Given the description of an element on the screen output the (x, y) to click on. 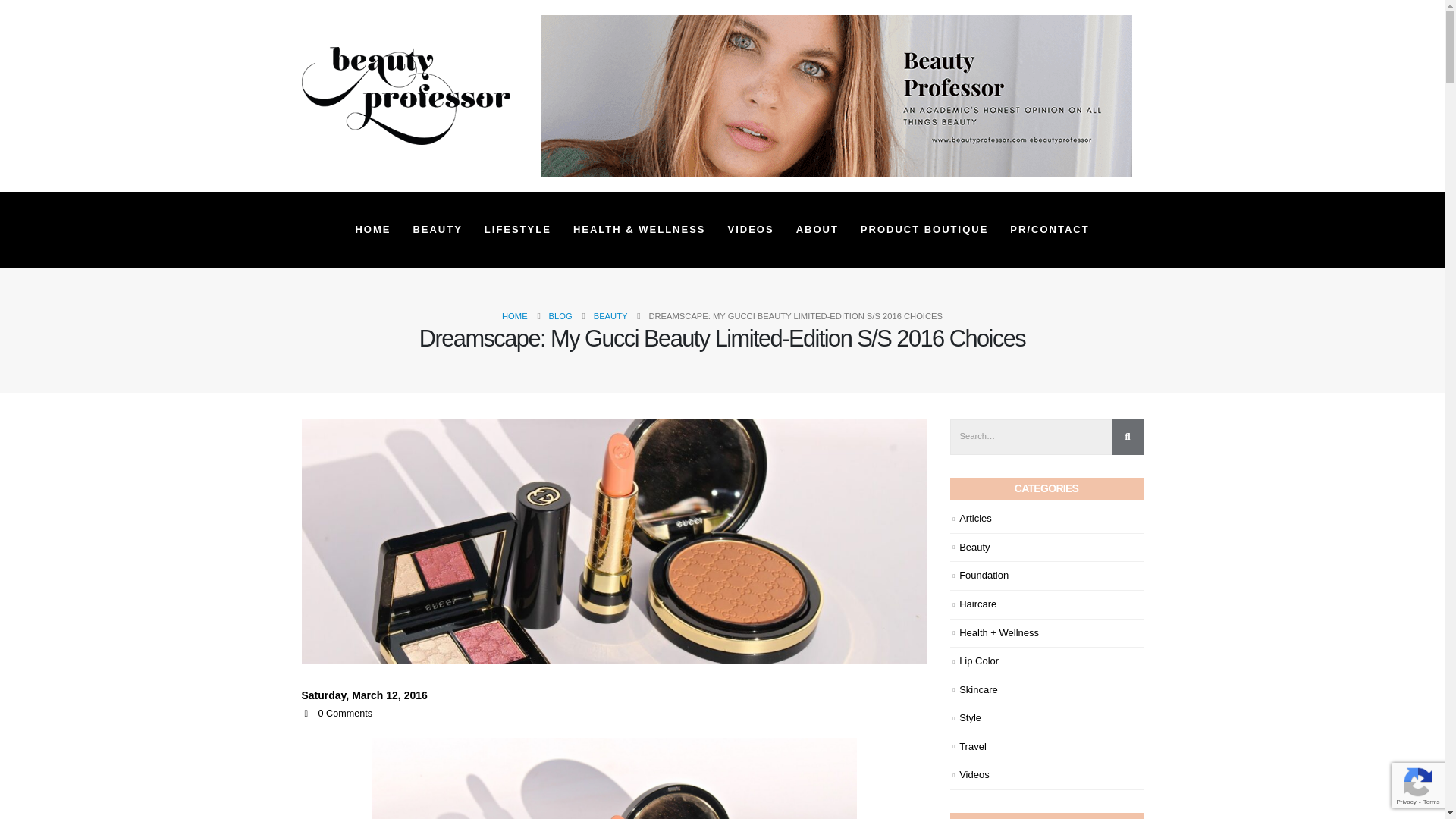
0 Comments (345, 713)
LIFESTYLE (518, 229)
Go to Home Page (514, 316)
BEAUTY (436, 229)
Beauty Professor - My WordPress Blog (406, 95)
HOME (372, 229)
